Given the description of an element on the screen output the (x, y) to click on. 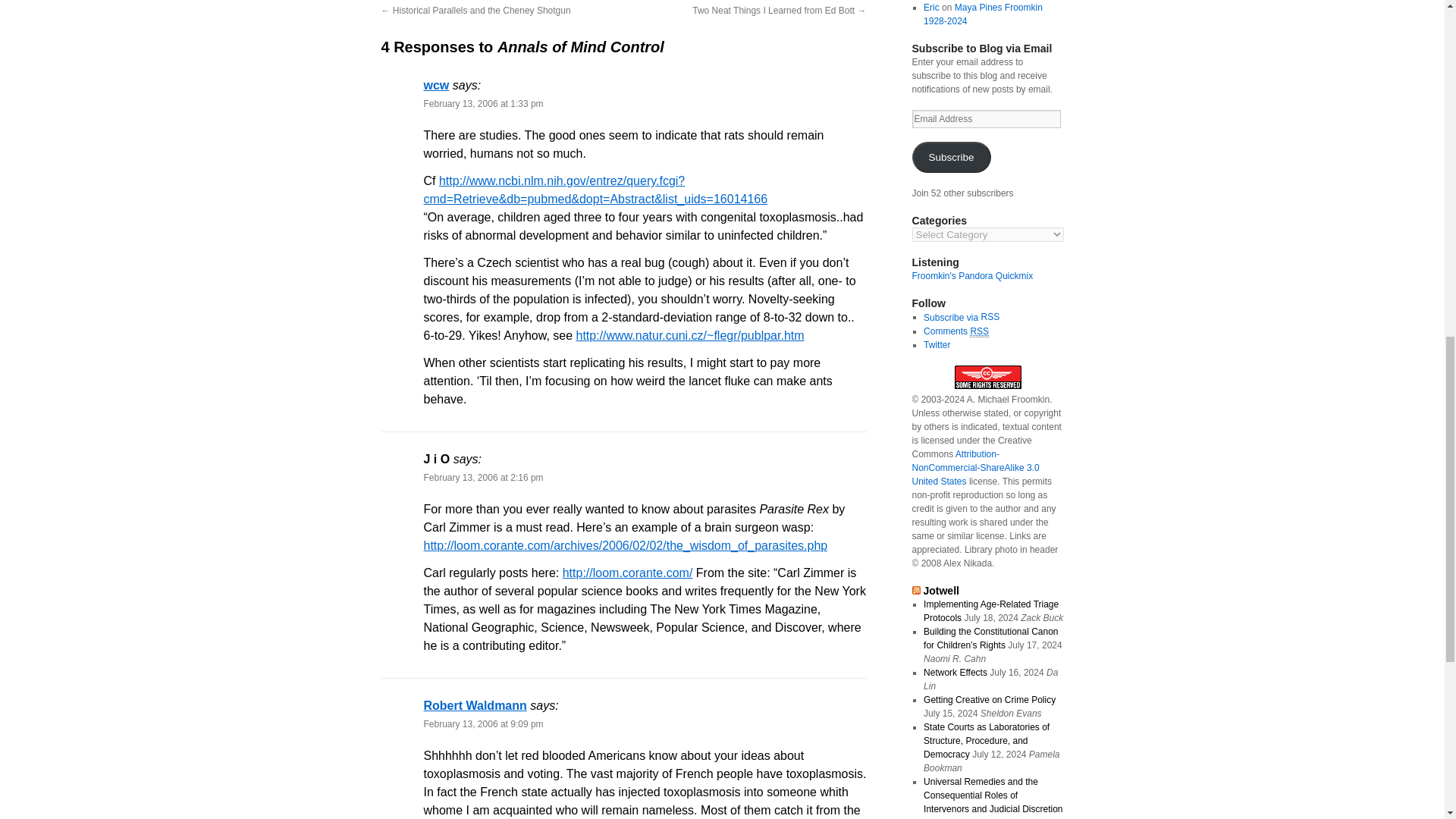
February 13, 2006 at 1:33 pm (483, 103)
wcw (435, 84)
Robert Waldmann (474, 705)
February 13, 2006 at 2:16 pm (483, 477)
Really Simple Syndication (988, 317)
February 13, 2006 at 9:09 pm (483, 724)
